Given the description of an element on the screen output the (x, y) to click on. 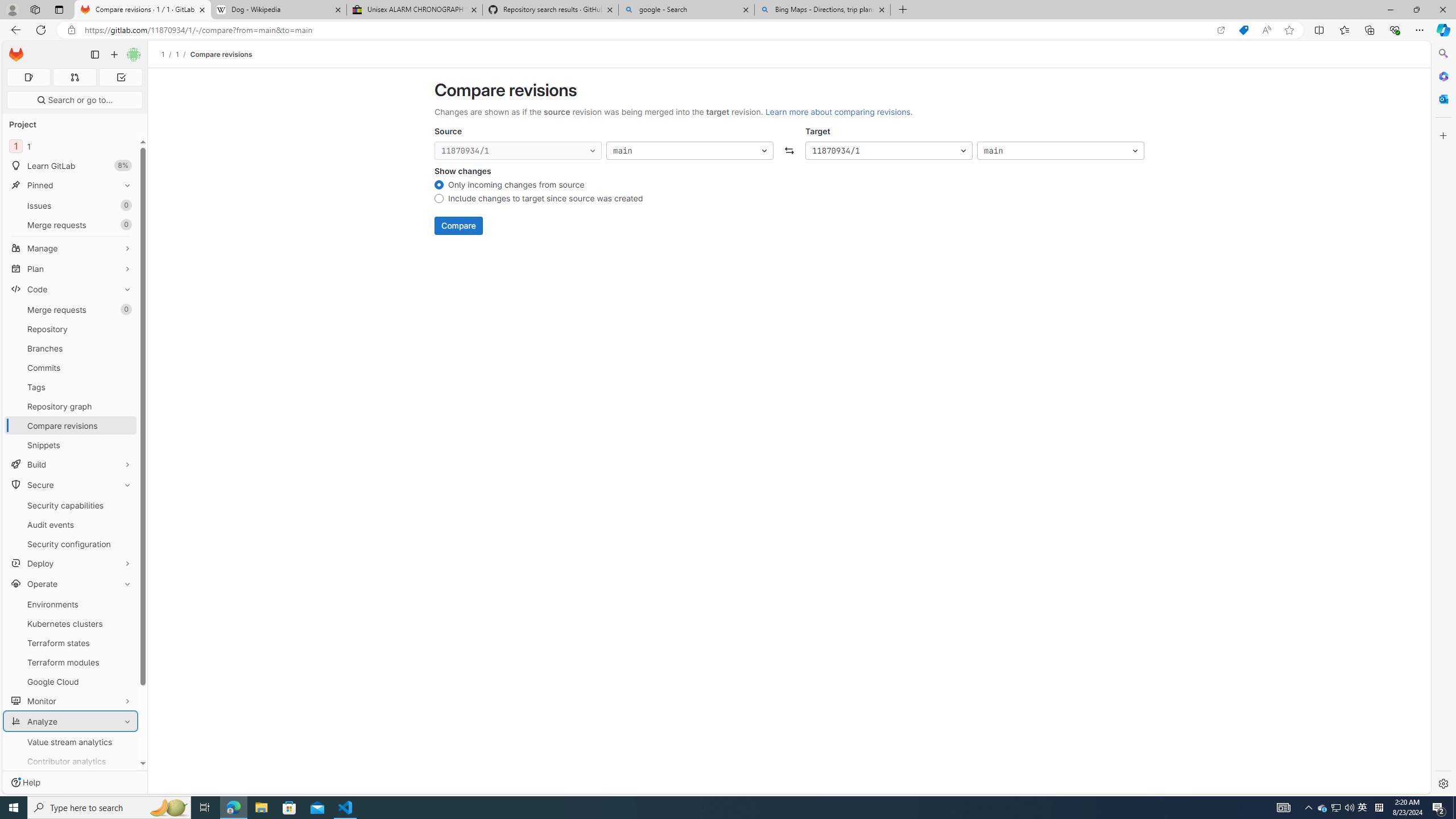
Plan (70, 268)
Operate (70, 583)
Repository graph (70, 406)
Pin Terraform modules (124, 662)
